Given the description of an element on the screen output the (x, y) to click on. 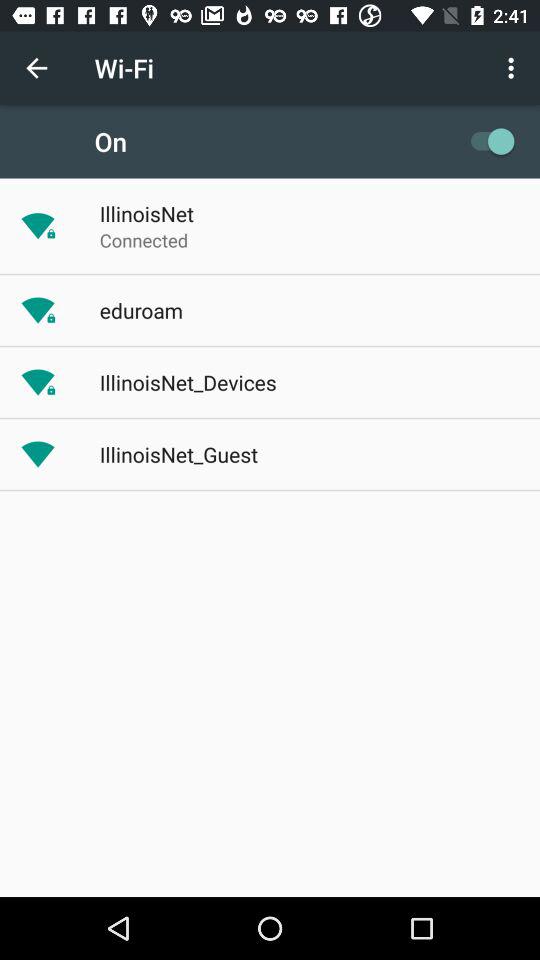
turn on the item to the right of on app (487, 141)
